Given the description of an element on the screen output the (x, y) to click on. 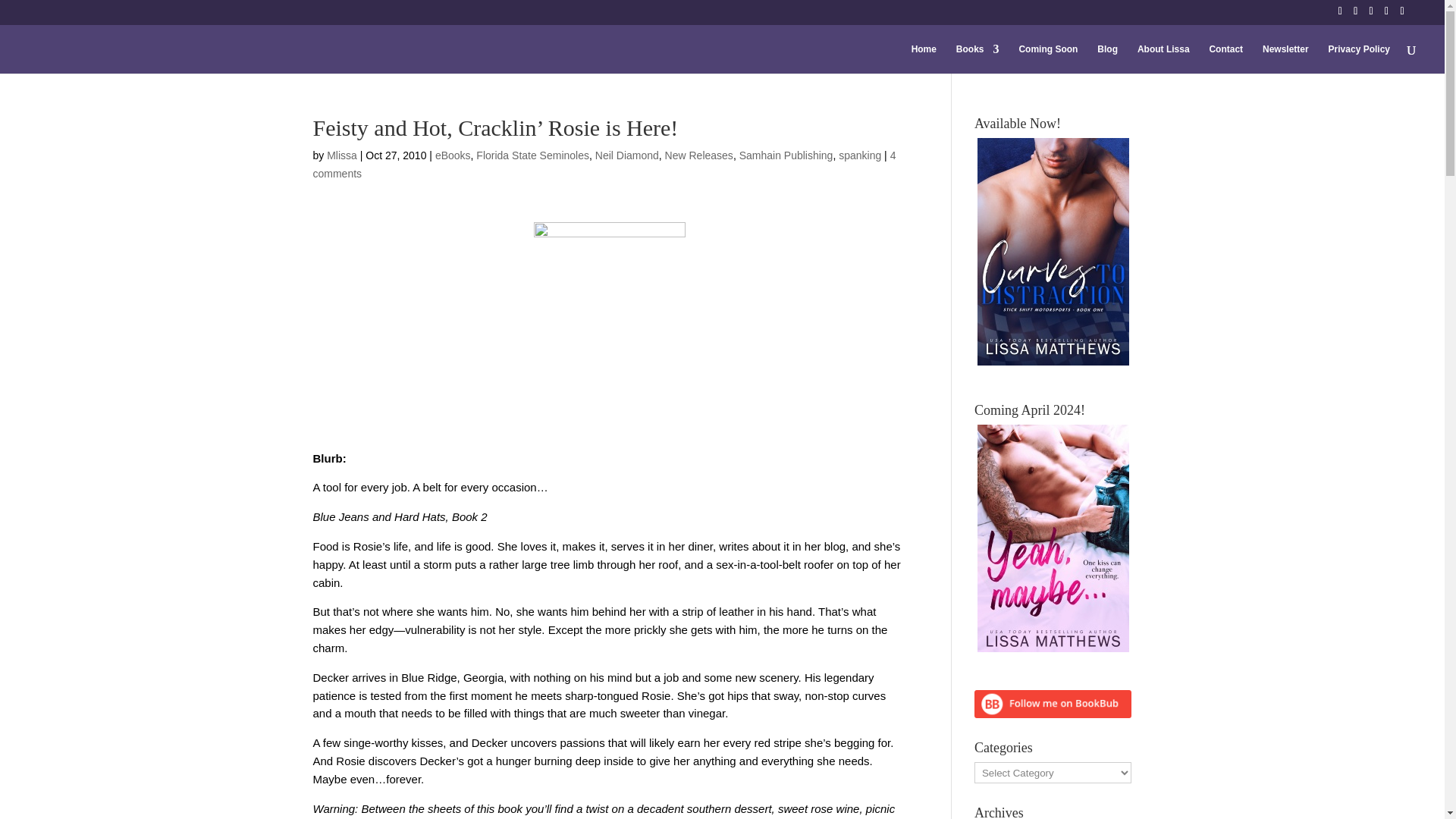
Neil Diamond (627, 155)
Books (977, 58)
Newsletter (1285, 58)
spanking (859, 155)
eBooks (452, 155)
Privacy Policy (1358, 58)
Florida State Seminoles (532, 155)
About Lissa (1163, 58)
4 comments (604, 164)
Mlissa (341, 155)
Samhain Publishing (785, 155)
Posts by Mlissa (341, 155)
Coming Soon (1047, 58)
Contact (1225, 58)
New Releases (699, 155)
